Given the description of an element on the screen output the (x, y) to click on. 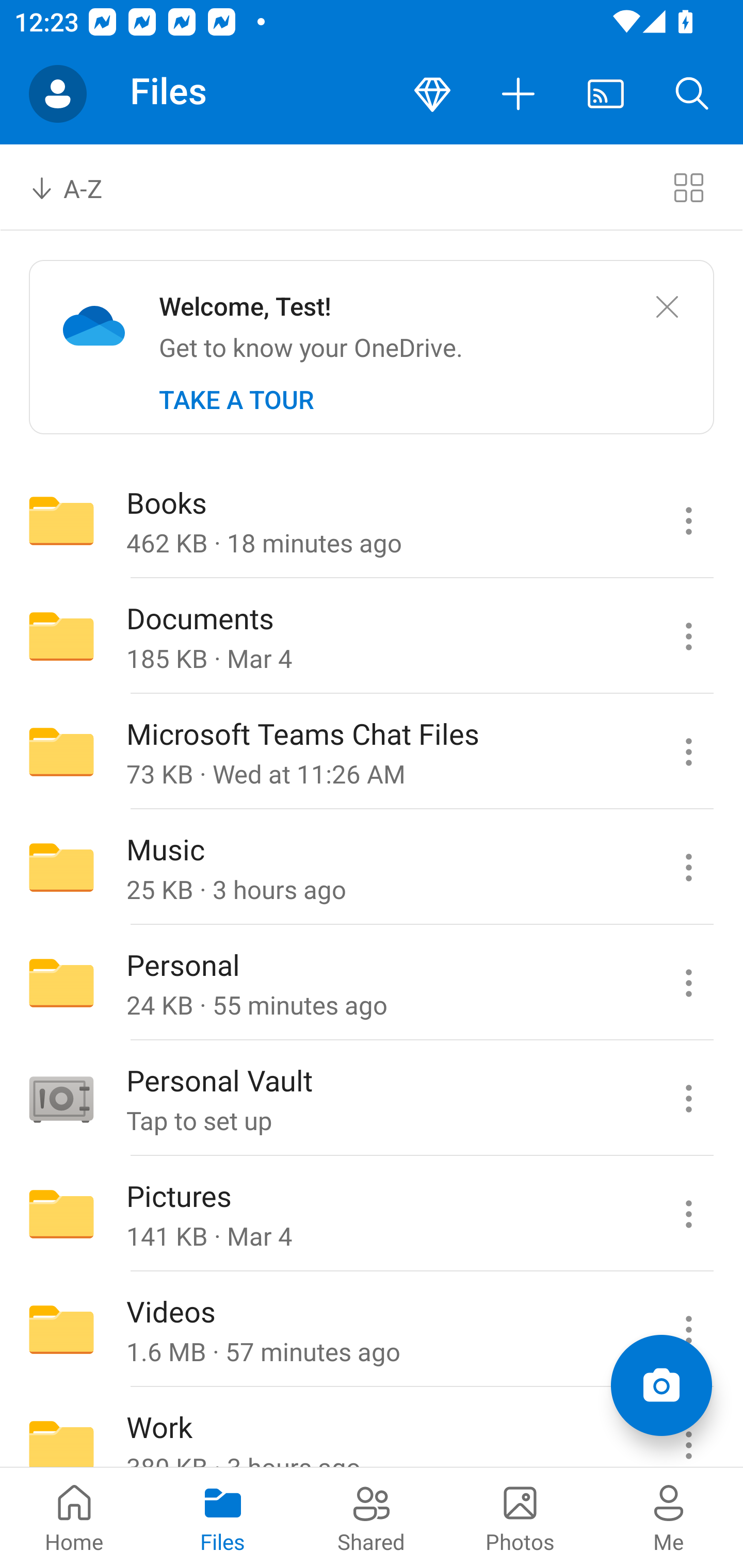
Account switcher (57, 93)
Cast. Disconnected (605, 93)
Premium button (432, 93)
More actions button (518, 93)
Search button (692, 93)
A-Z Sort by combo box, sort by name, A to Z (80, 187)
Switch to tiles view (688, 187)
Close (667, 307)
TAKE A TOUR (236, 399)
Books commands (688, 520)
Folder Documents 185 KB · Mar 4 Documents commands (371, 636)
Documents commands (688, 636)
Microsoft Teams Chat Files commands (688, 751)
Folder Music 25 KB · 3 hours ago Music commands (371, 867)
Music commands (688, 867)
Personal commands (688, 983)
Personal Vault commands (688, 1099)
Folder Pictures 141 KB · Mar 4 Pictures commands (371, 1214)
Pictures commands (688, 1214)
Videos commands (688, 1329)
Add items Scan (660, 1385)
Folder Work 380 KB · 3 hours ago Work commands (371, 1427)
Work commands (688, 1427)
Home pivot Home (74, 1517)
Shared pivot Shared (371, 1517)
Photos pivot Photos (519, 1517)
Me pivot Me (668, 1517)
